Given the description of an element on the screen output the (x, y) to click on. 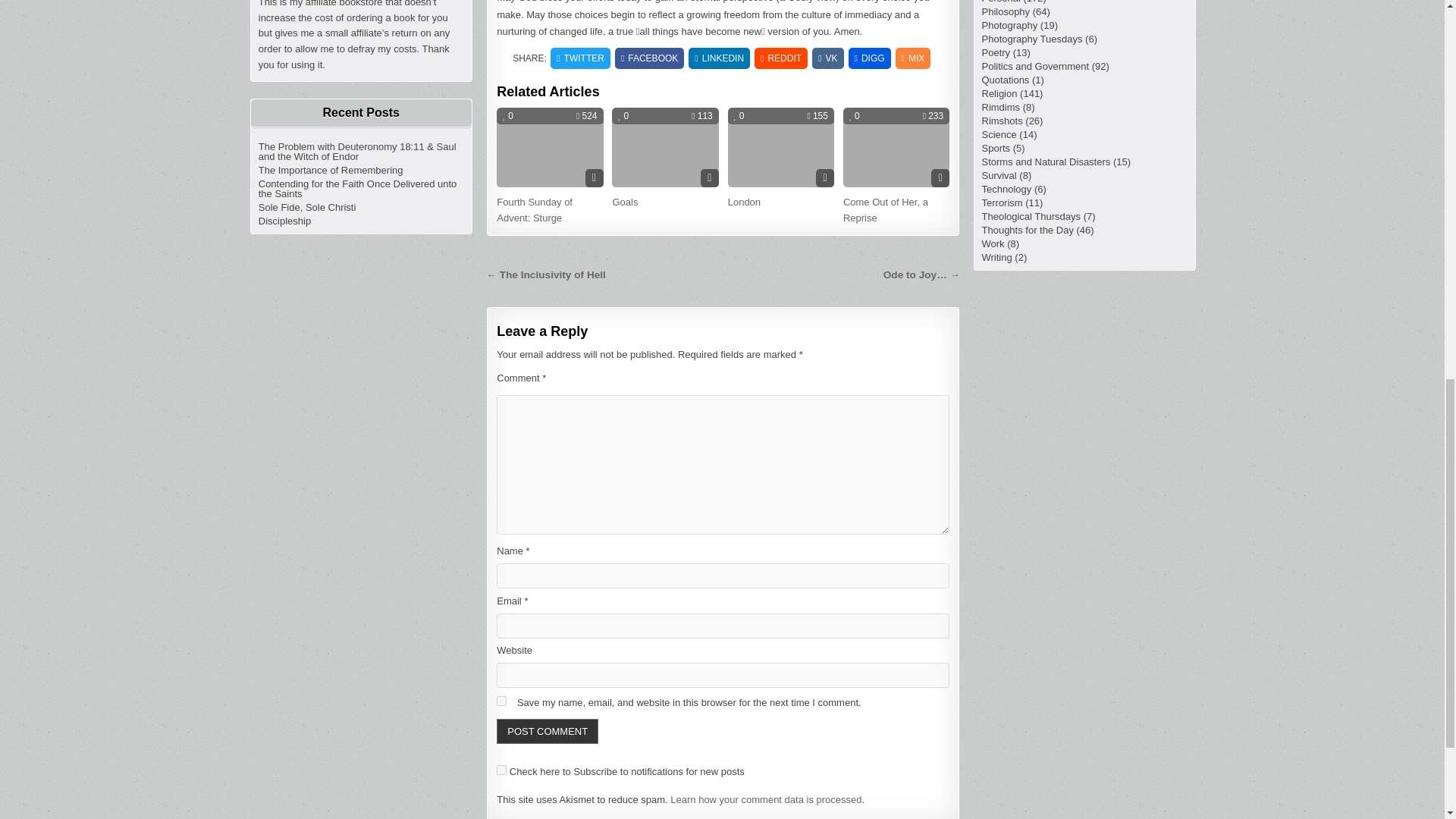
VK (827, 57)
Goals (624, 202)
0 (738, 115)
0 (507, 115)
Tweet This! (580, 57)
1 (501, 769)
Share this on Linkedin (718, 57)
Share this on VK (827, 57)
MIX (913, 57)
Share this on Facebook (649, 57)
